Given the description of an element on the screen output the (x, y) to click on. 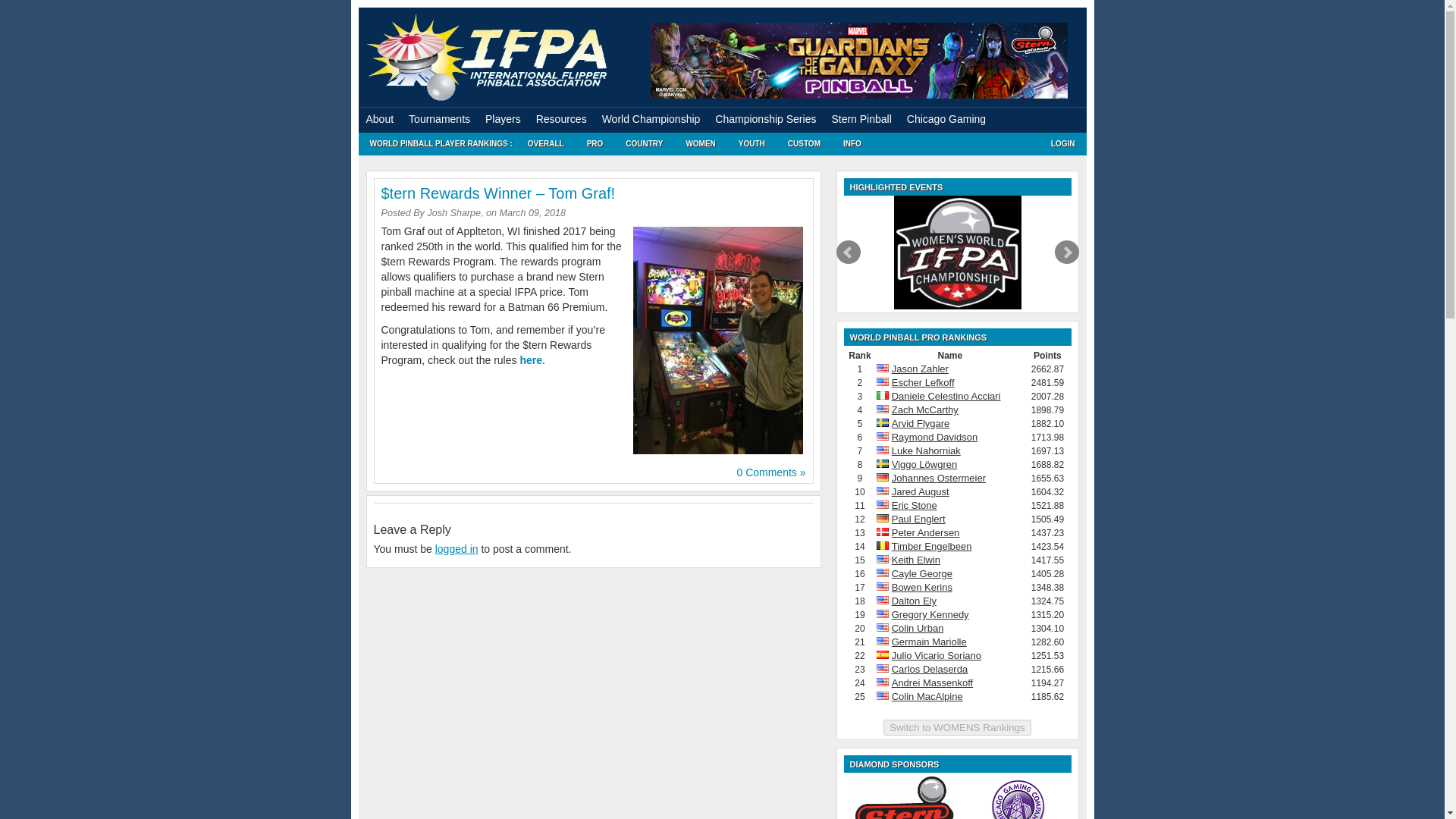
Switch to WOMENS Rankings (956, 727)
Players (502, 119)
About (379, 119)
Stern (904, 797)
Tournaments (439, 119)
Resources (561, 119)
